Given the description of an element on the screen output the (x, y) to click on. 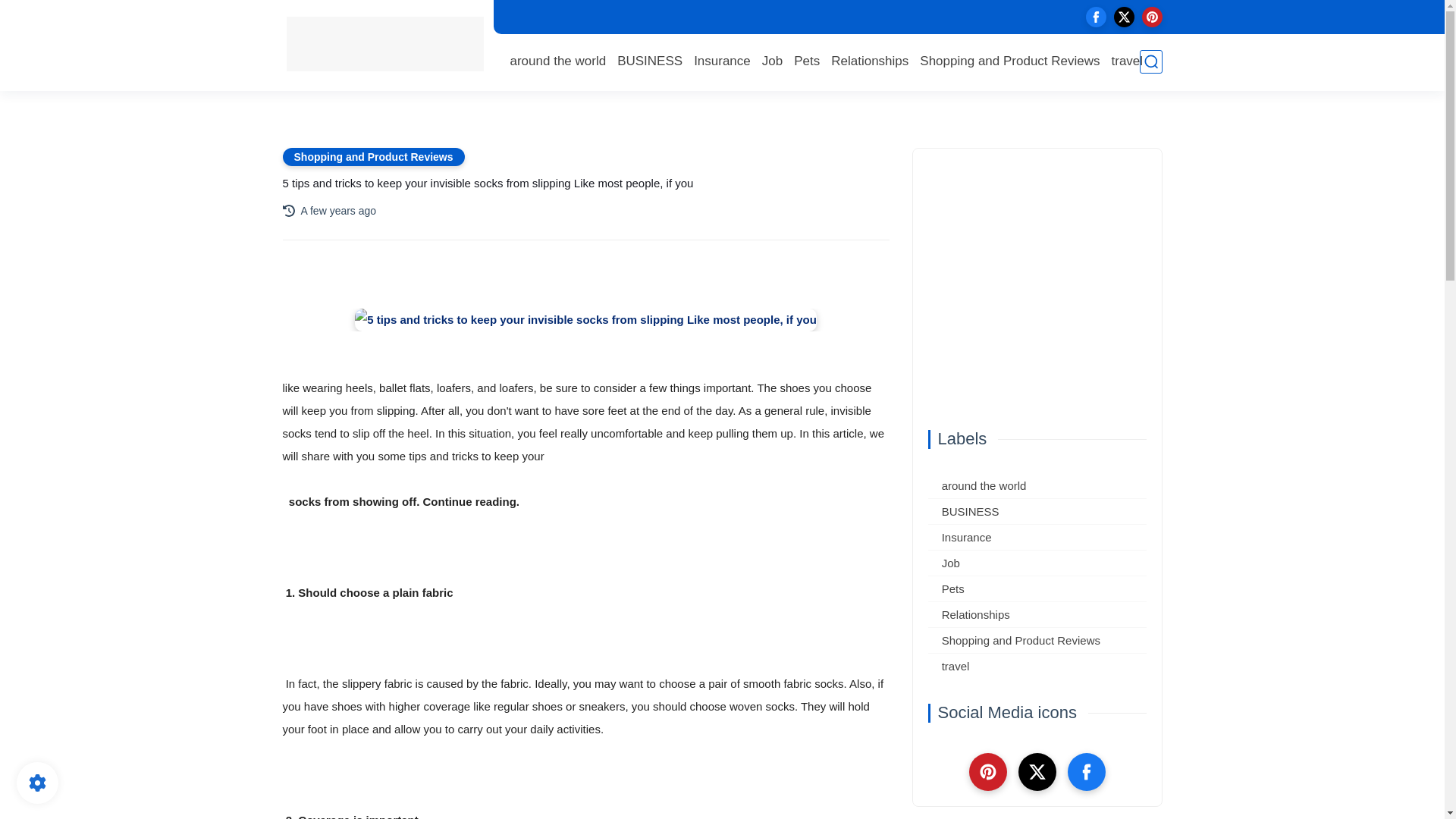
Relationships (869, 61)
Pets (806, 61)
Job (1037, 562)
Insurance (722, 61)
BUSINESS (649, 61)
Relationships (869, 61)
Shopping and Product Reviews (373, 157)
around the world (557, 61)
Insurance (1037, 536)
